Given the description of an element on the screen output the (x, y) to click on. 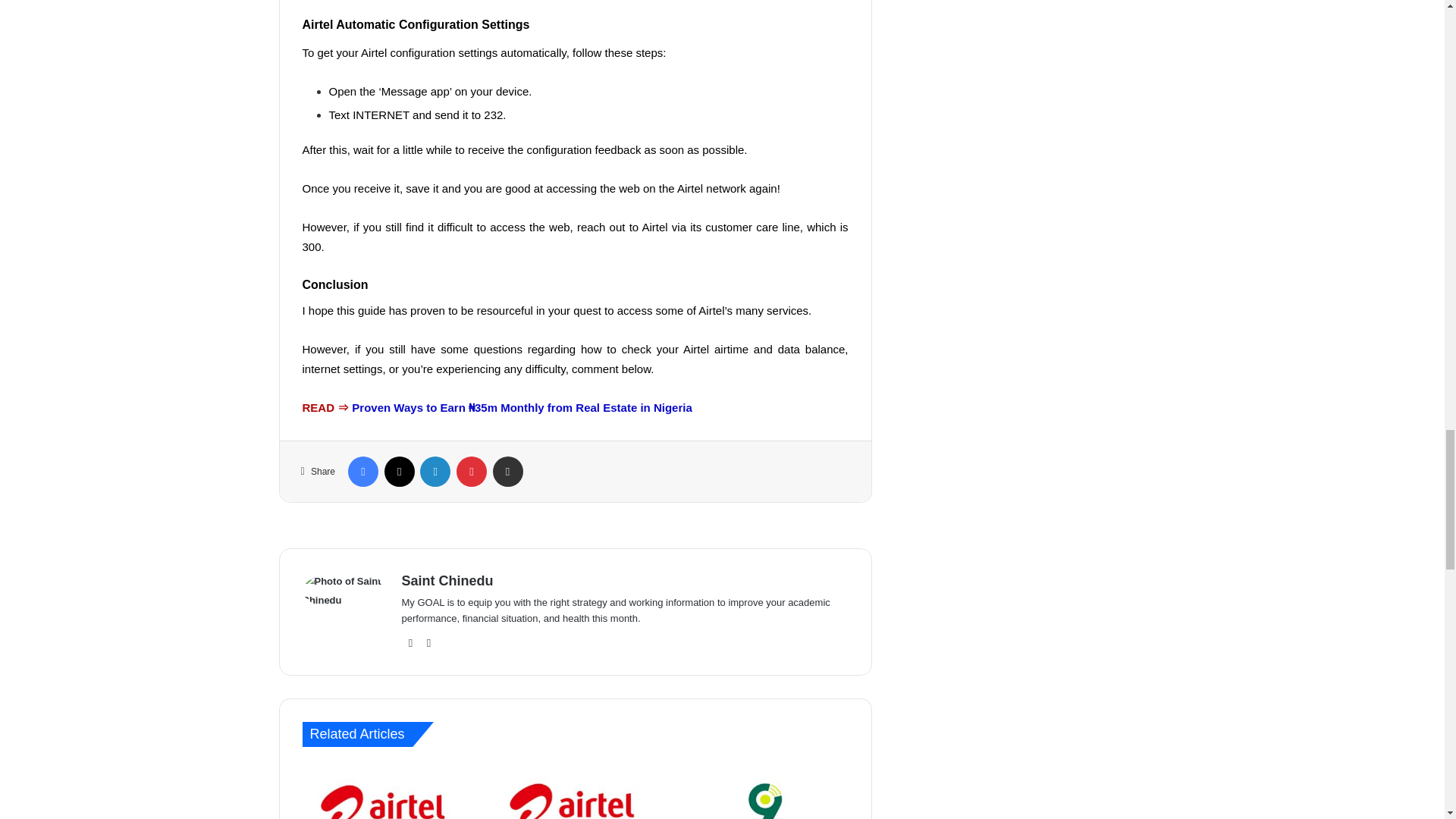
LinkedIn (434, 471)
X (399, 471)
Facebook (362, 471)
X (399, 471)
Facebook (362, 471)
